Given the description of an element on the screen output the (x, y) to click on. 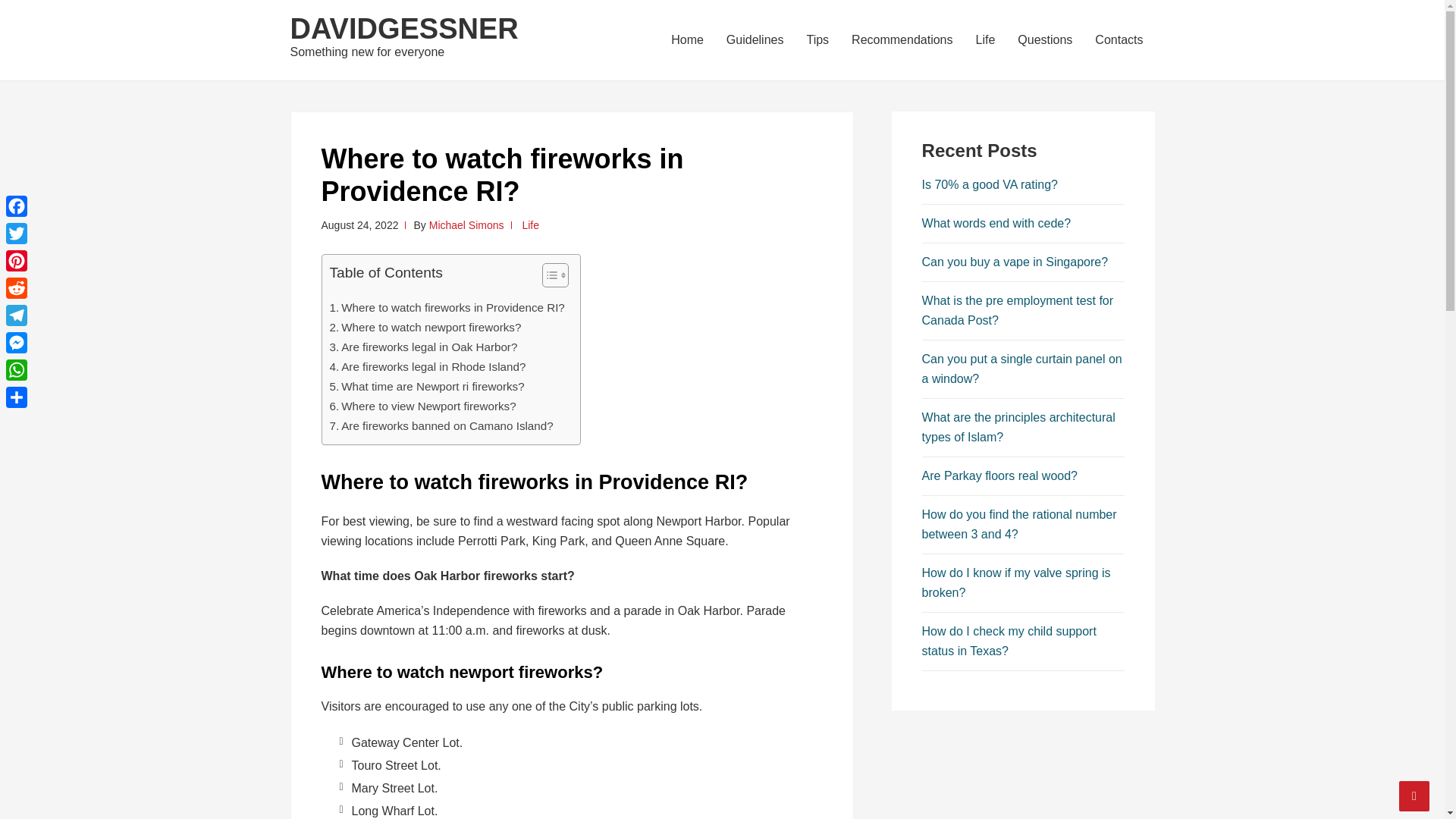
Are fireworks legal in Rhode Island? (427, 366)
How do I check my child support status in Texas? (1008, 640)
Can you put a single curtain panel on a window? (1021, 368)
View all posts by Michael Simons (466, 224)
Recommendations (901, 39)
Contacts (1118, 39)
Michael Simons (466, 224)
Life (529, 224)
Where to view Newport fireworks? (422, 406)
What time are Newport ri fireworks? (426, 386)
